Given the description of an element on the screen output the (x, y) to click on. 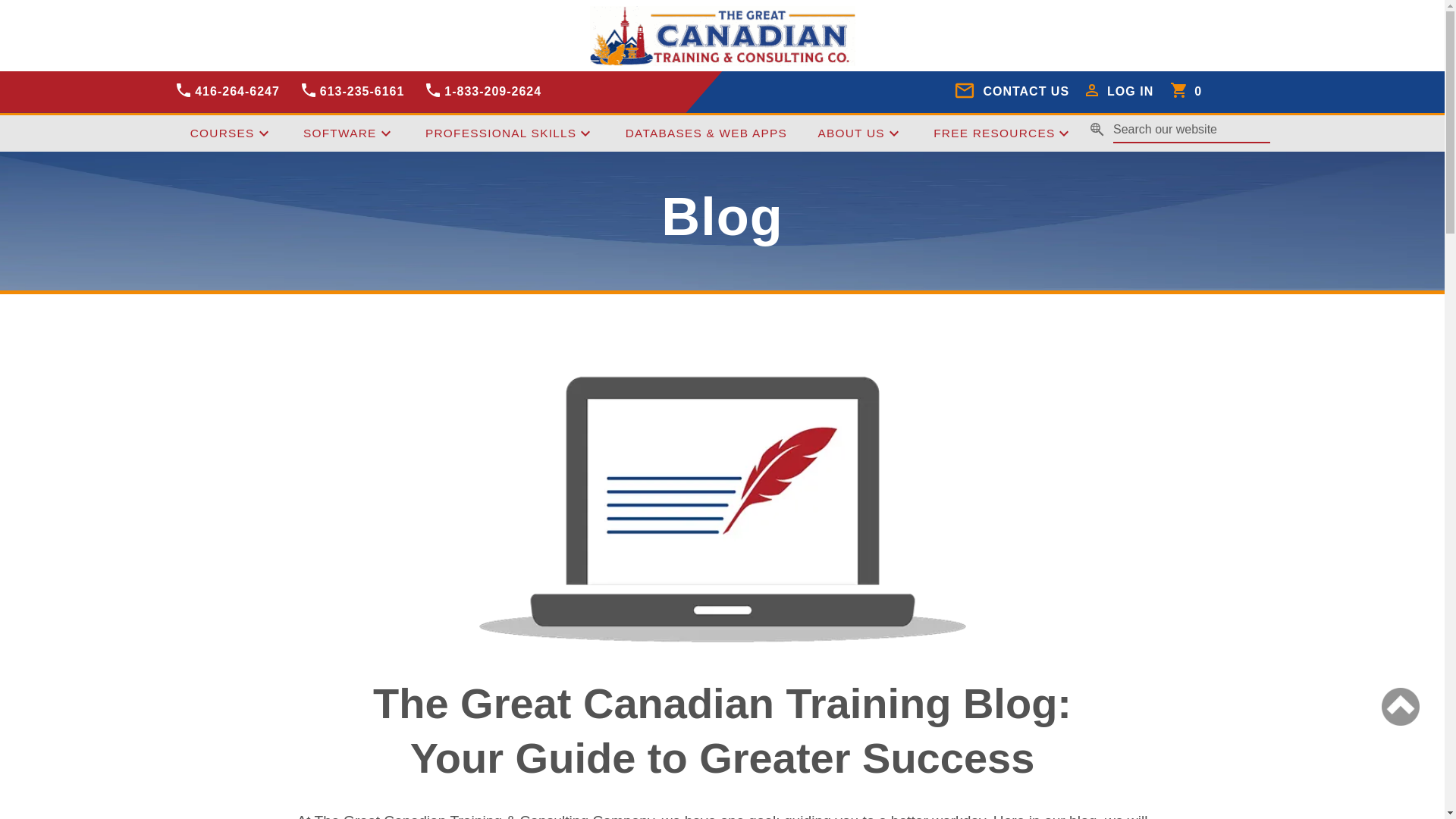
  1-833-209-2624 (483, 92)
LOG IN (1120, 92)
CONTACT US (1012, 92)
  613-235-6161 (351, 92)
  416-264-6247 (226, 92)
COURSES (230, 133)
